Given the description of an element on the screen output the (x, y) to click on. 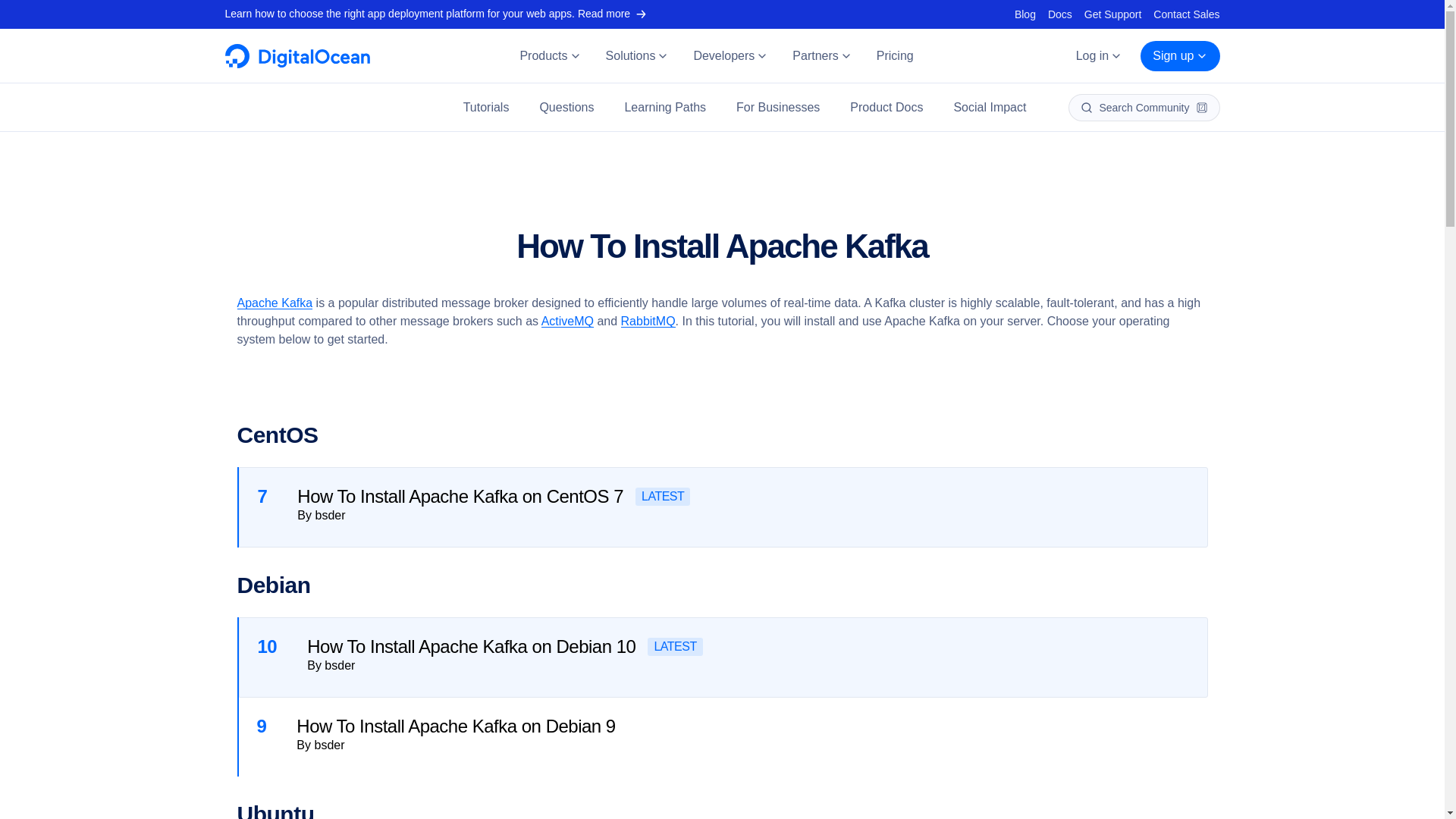
DigitalOcean (296, 63)
Docs (1059, 14)
Products (549, 55)
Contact Sales (1186, 14)
Get Support (1112, 14)
Blog (1024, 14)
